Given the description of an element on the screen output the (x, y) to click on. 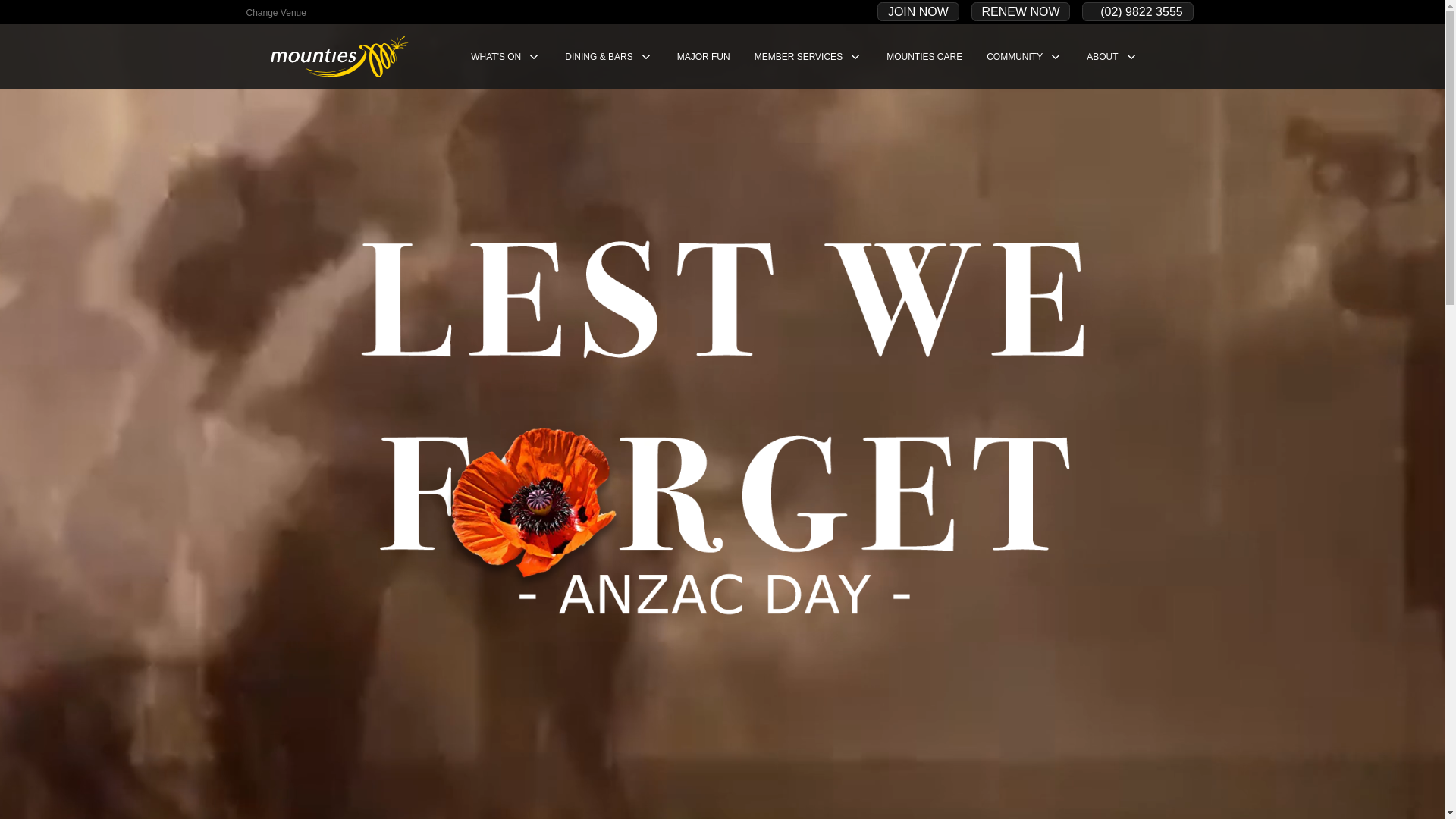
DINING & BARS Element type: text (608, 56)
MOUNTIES CARE Element type: text (924, 56)
JOIN NOW Element type: text (918, 11)
WHAT'S ON Element type: text (505, 56)
Change Venue Element type: text (275, 12)
RENEW NOW Element type: text (1020, 11)
(02) 9822 3555 Element type: text (1137, 11)
ABOUT Element type: text (1111, 56)
MAJOR FUN Element type: text (703, 56)
MEMBER SERVICES Element type: text (808, 56)
COMMUNITY Element type: text (1024, 56)
